Given the description of an element on the screen output the (x, y) to click on. 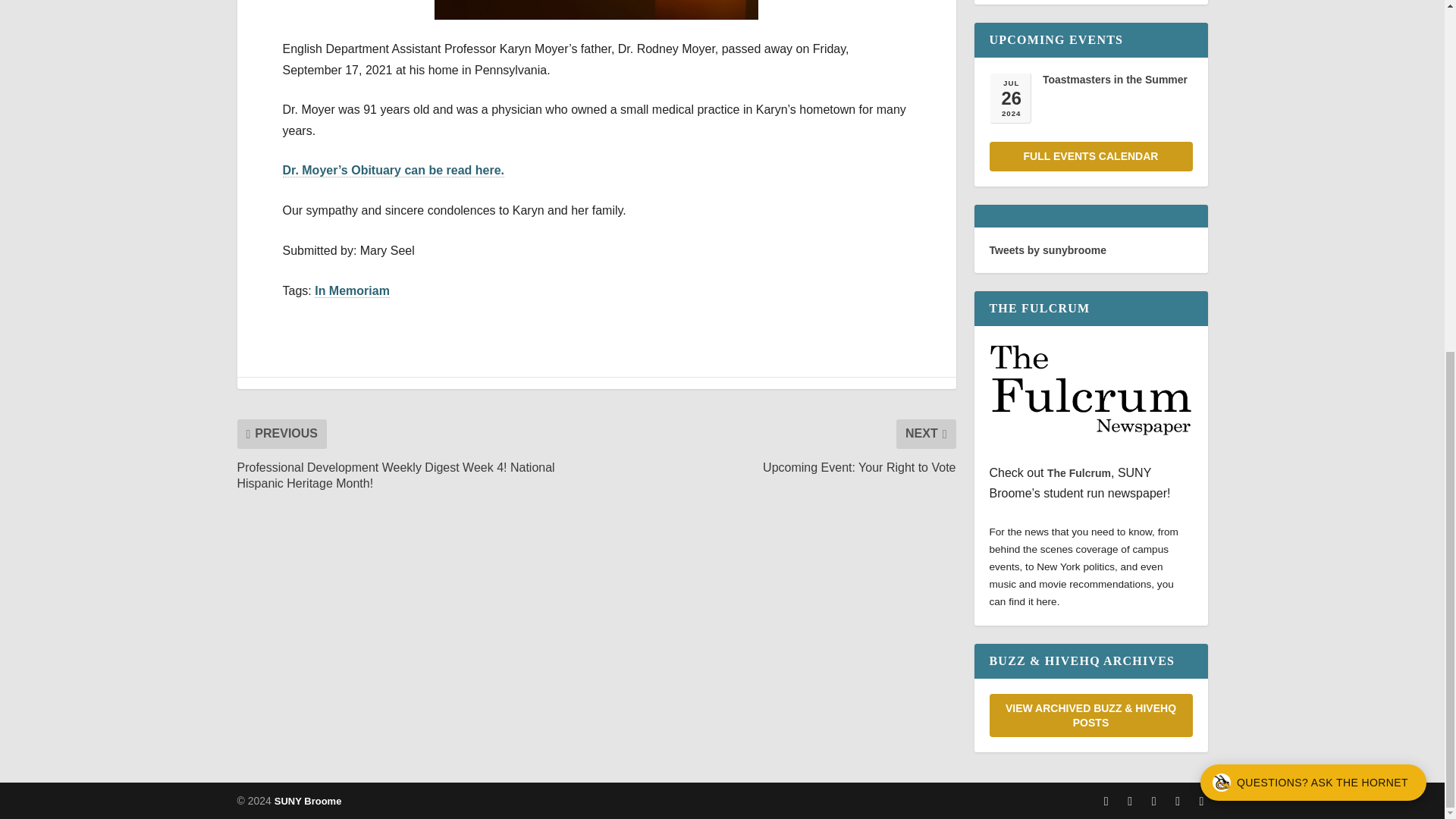
QUESTIONS? ASK THE HORNET (1312, 170)
In Memoriam (352, 291)
